Given the description of an element on the screen output the (x, y) to click on. 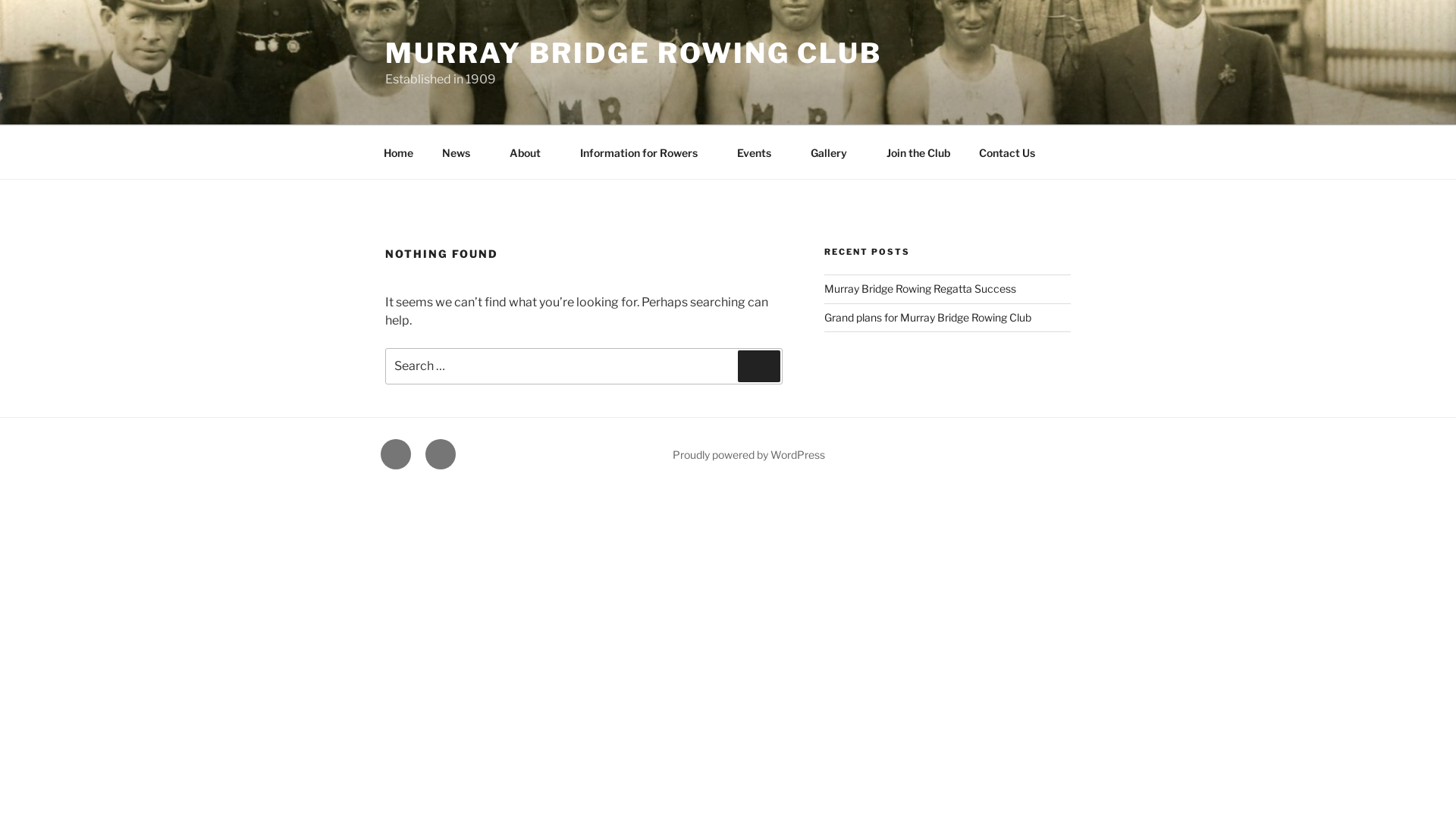
Facebook Element type: text (395, 454)
Proudly powered by WordPress Element type: text (748, 454)
Information for Rowers Element type: text (643, 151)
Events Element type: text (758, 151)
Contact Us Element type: text (1006, 151)
Join the Club Element type: text (917, 151)
Skip to content Element type: text (0, 0)
Gallery Element type: text (833, 151)
Instagram Element type: text (440, 454)
Grand plans for Murray Bridge Rowing Club Element type: text (927, 316)
MURRAY BRIDGE ROWING CLUB Element type: text (633, 52)
News Element type: text (460, 151)
Murray Bridge Rowing Regatta Success Element type: text (920, 288)
Search Element type: text (758, 366)
Home Element type: text (398, 151)
About Element type: text (529, 151)
